Given the description of an element on the screen output the (x, y) to click on. 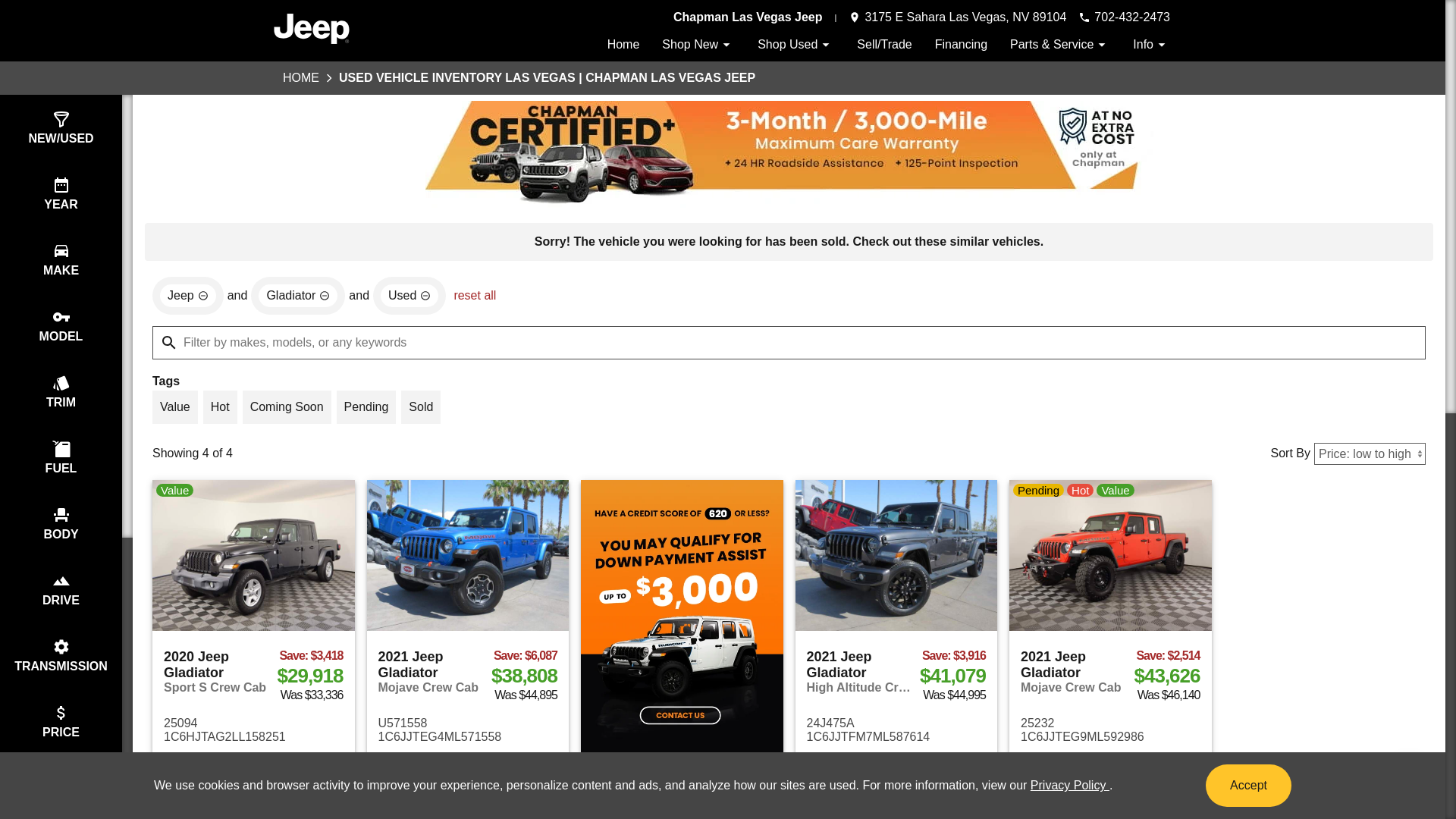
show chat (1408, 782)
Shop Used (795, 44)
3175 E Sahara Las Vegas, NV 89104 (956, 16)
Financing (960, 44)
Shop New (698, 44)
702-432-2473 (1124, 16)
Home (623, 44)
Chapman Las Vegas Jeep (747, 16)
